Given the description of an element on the screen output the (x, y) to click on. 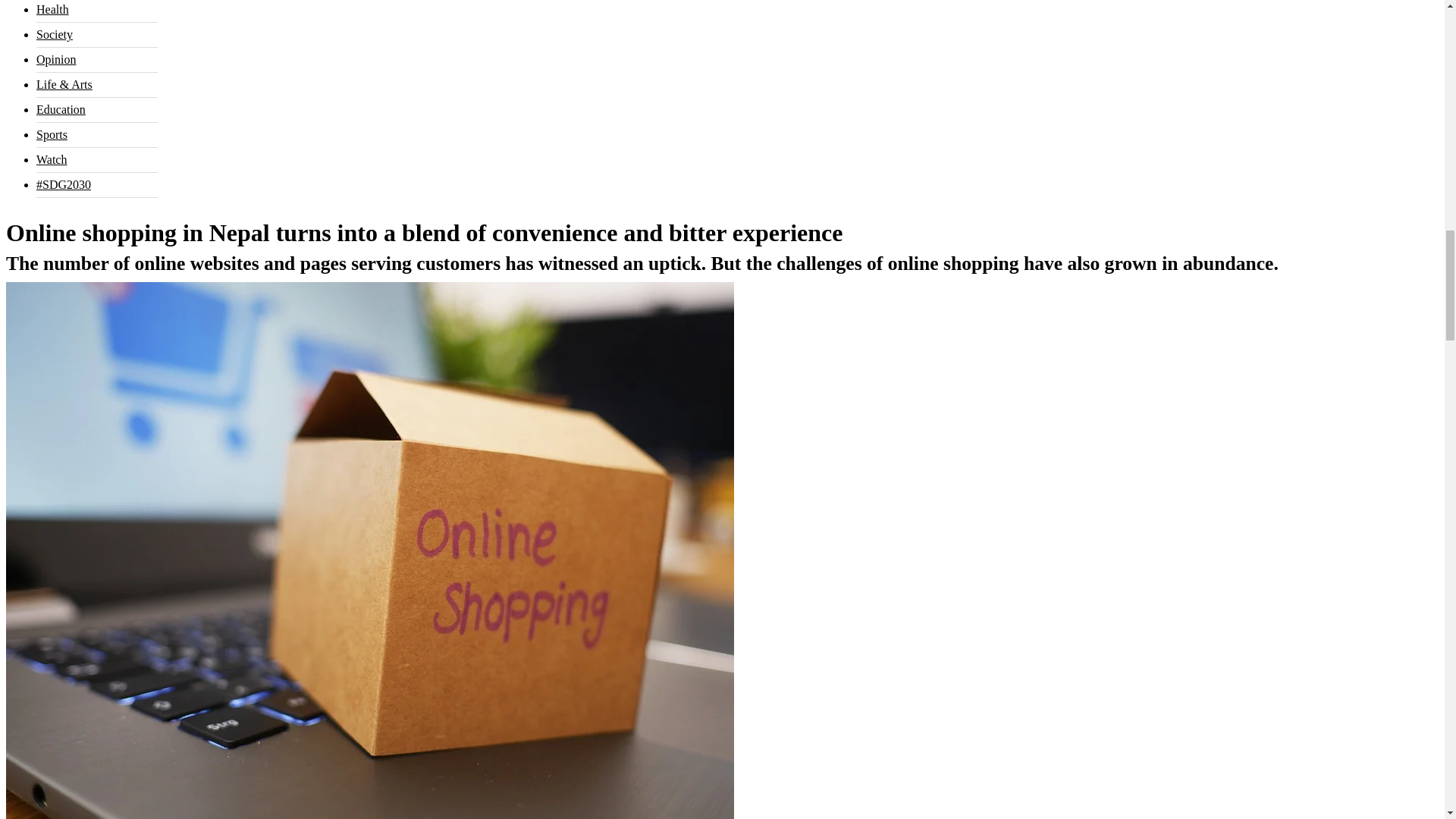
Opinion (55, 59)
Sports (51, 133)
Watch (51, 159)
Health (52, 9)
Education (60, 109)
Society (54, 33)
